Given the description of an element on the screen output the (x, y) to click on. 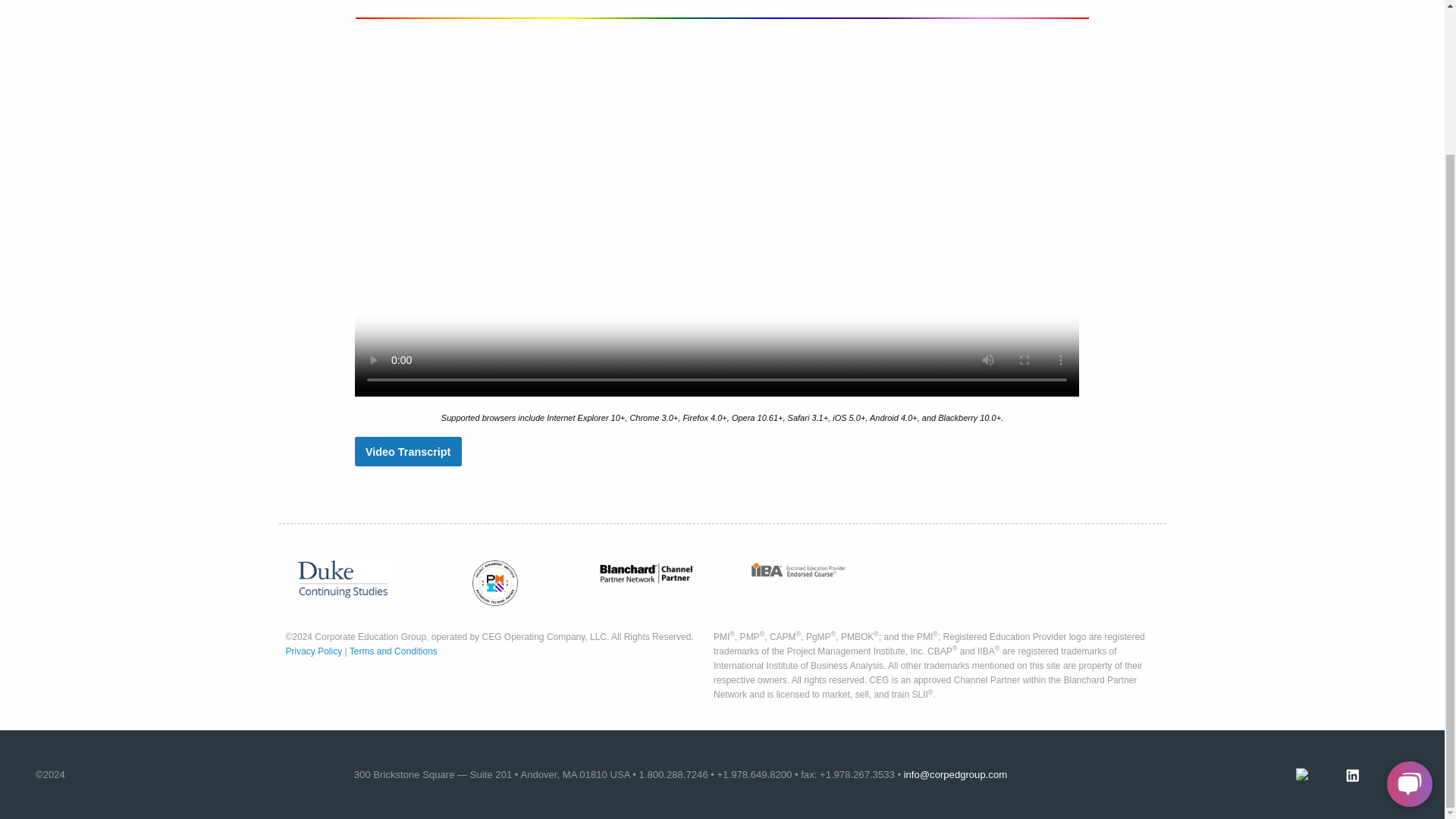
CEG Privacy Policy (313, 651)
CEG Terms and Conditions (393, 651)
